Given the description of an element on the screen output the (x, y) to click on. 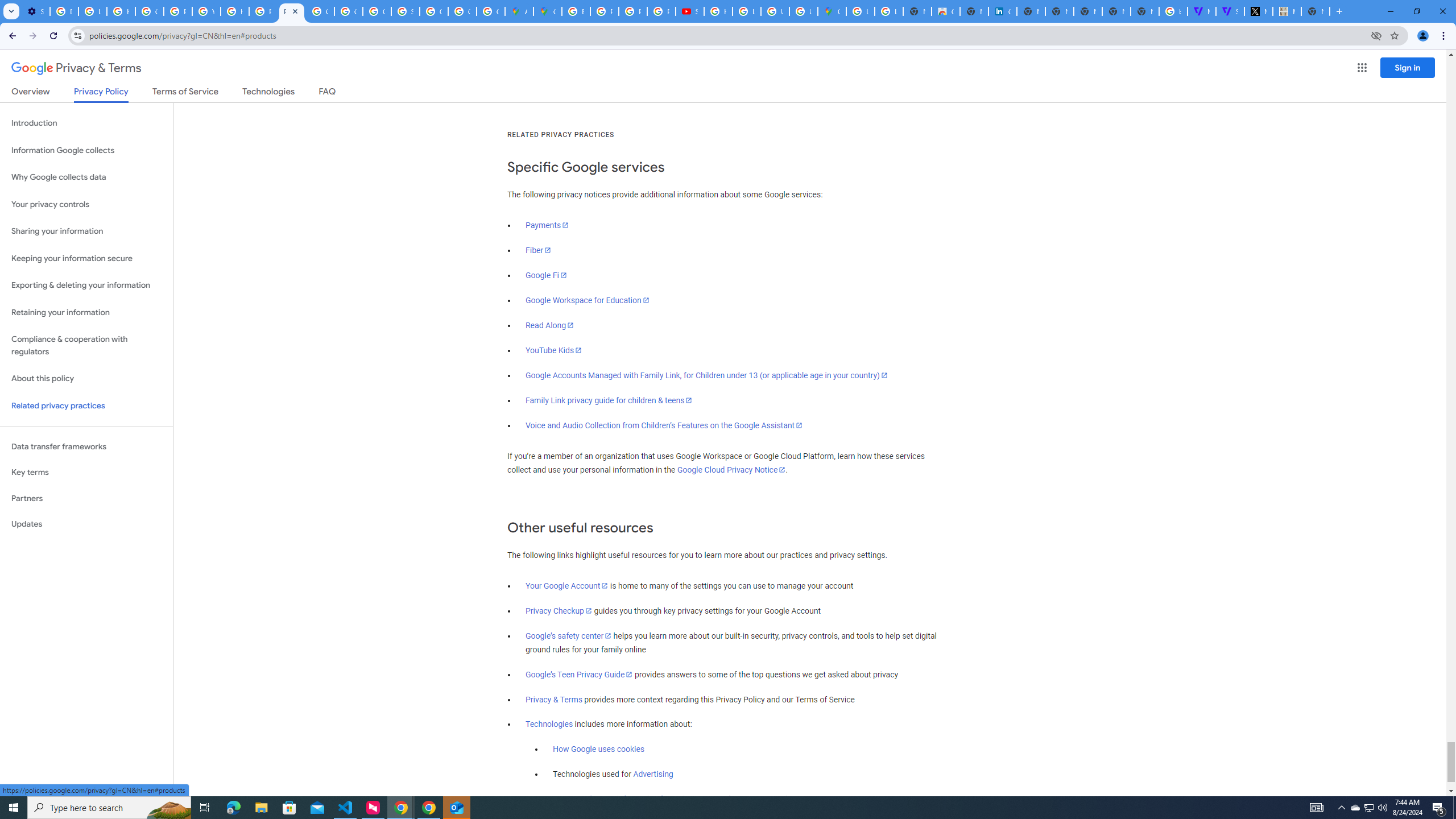
Privacy Help Center - Policies Help (632, 11)
MILEY CYRUS. (1287, 11)
Advertising (652, 774)
